Given the description of an element on the screen output the (x, y) to click on. 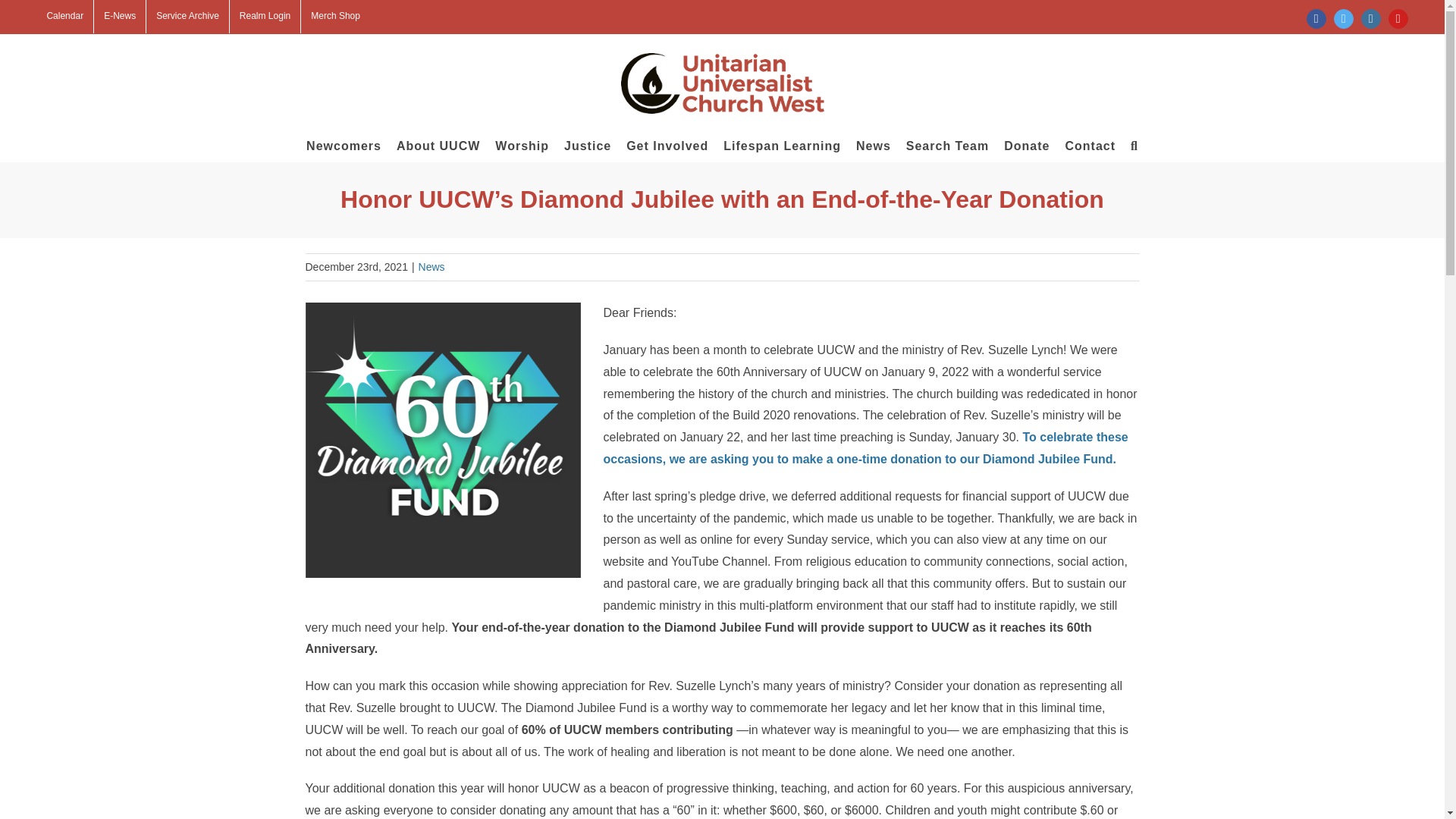
Facebook (1316, 18)
Instagram (1370, 18)
Search (1134, 145)
Realm Login (264, 16)
Worship (521, 145)
E-News (119, 16)
Merch Shop (335, 16)
Newcomers (343, 145)
Justice (587, 145)
YouTube (1398, 18)
Twitter (1343, 18)
About UUCW (438, 145)
Service Archive (187, 16)
Calendar (64, 16)
